Given the description of an element on the screen output the (x, y) to click on. 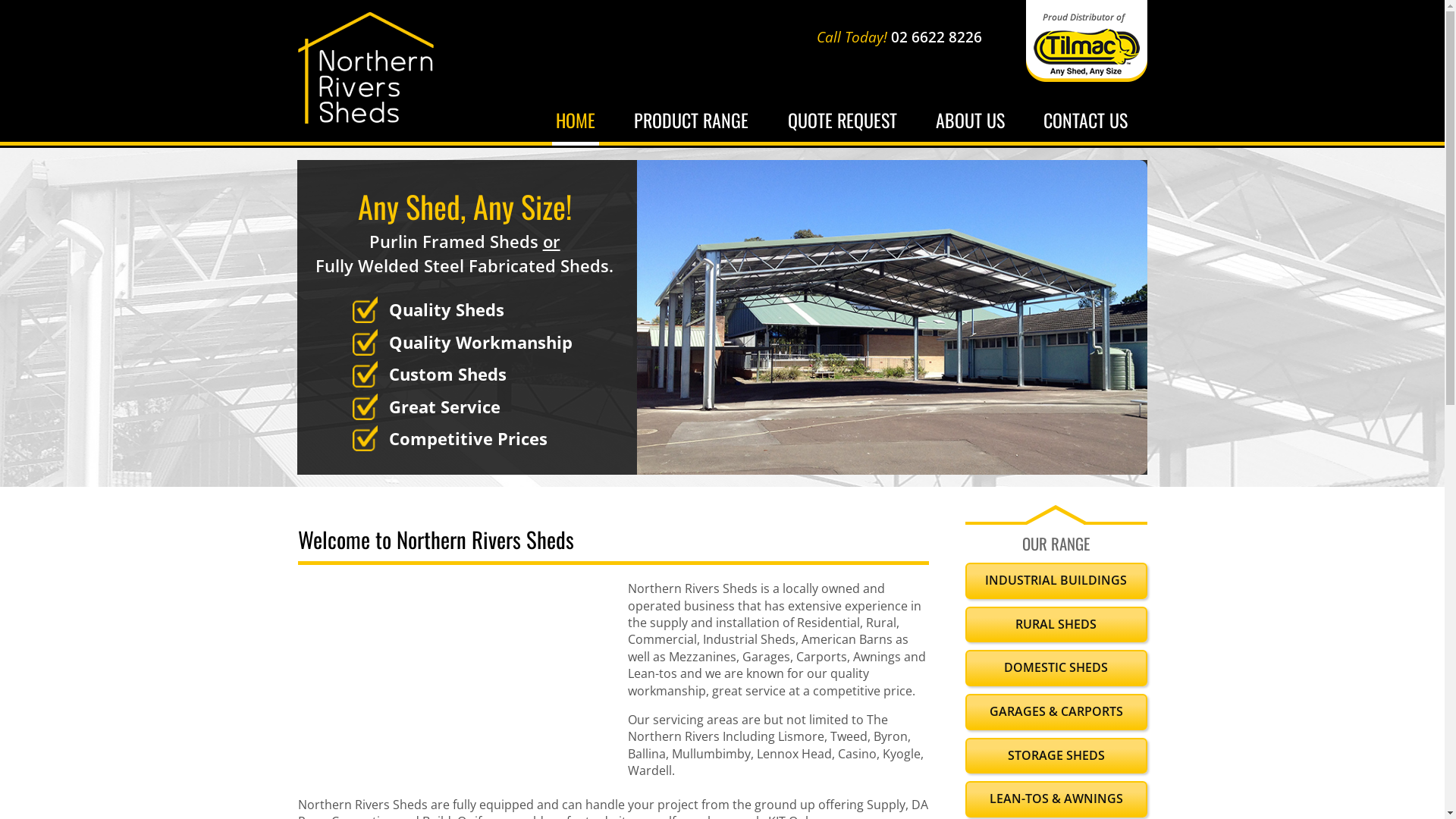
ABOUT US Element type: text (969, 120)
INDUSTRIAL BUILDINGS Element type: text (1055, 580)
HOME Element type: text (575, 120)
CONTACT US Element type: text (1085, 120)
QUOTE REQUEST Element type: text (842, 120)
LEAN-TOS & AWNINGS Element type: text (1055, 799)
RURAL SHEDS Element type: text (1055, 624)
02 6622 8226 Element type: text (936, 36)
DOMESTIC SHEDS Element type: text (1055, 667)
GARAGES & CARPORTS Element type: text (1055, 711)
STORAGE SHEDS Element type: text (1055, 755)
PRODUCT RANGE Element type: text (691, 120)
